Given the description of an element on the screen output the (x, y) to click on. 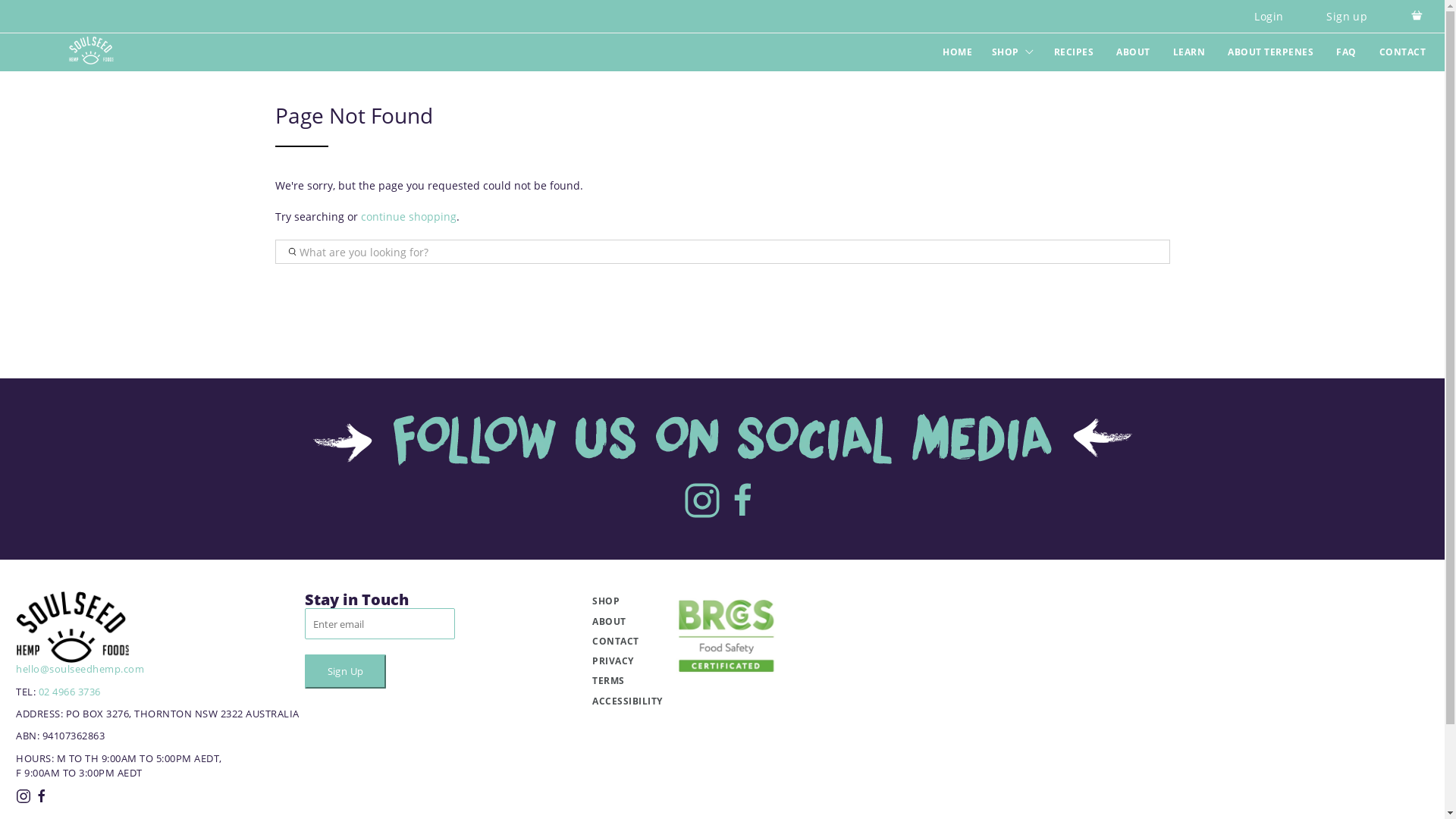
Soul Seeds Food Element type: hover (90, 50)
TERMS Element type: text (626, 680)
continue shopping Element type: text (408, 216)
hello@soulseedhemp.com Element type: text (79, 668)
ACCESSIBILITY Element type: text (626, 701)
SHOP Element type: text (1012, 51)
RECIPES Element type: text (1072, 52)
LEARN Element type: text (1189, 52)
SHOP Element type: text (626, 601)
PRIVACY Element type: text (626, 661)
Sign up Element type: text (1346, 16)
02 4966 3736 Element type: text (68, 691)
Sign Up Element type: text (345, 670)
CONTACT Element type: text (626, 641)
Login Element type: text (1268, 16)
ABOUT Element type: text (626, 621)
ABOUT TERPENES Element type: text (1270, 52)
FAQ Element type: text (1346, 52)
CONTACT Element type: text (1402, 52)
ABOUT Element type: text (1132, 52)
HOME Element type: text (957, 52)
